Given the description of an element on the screen output the (x, y) to click on. 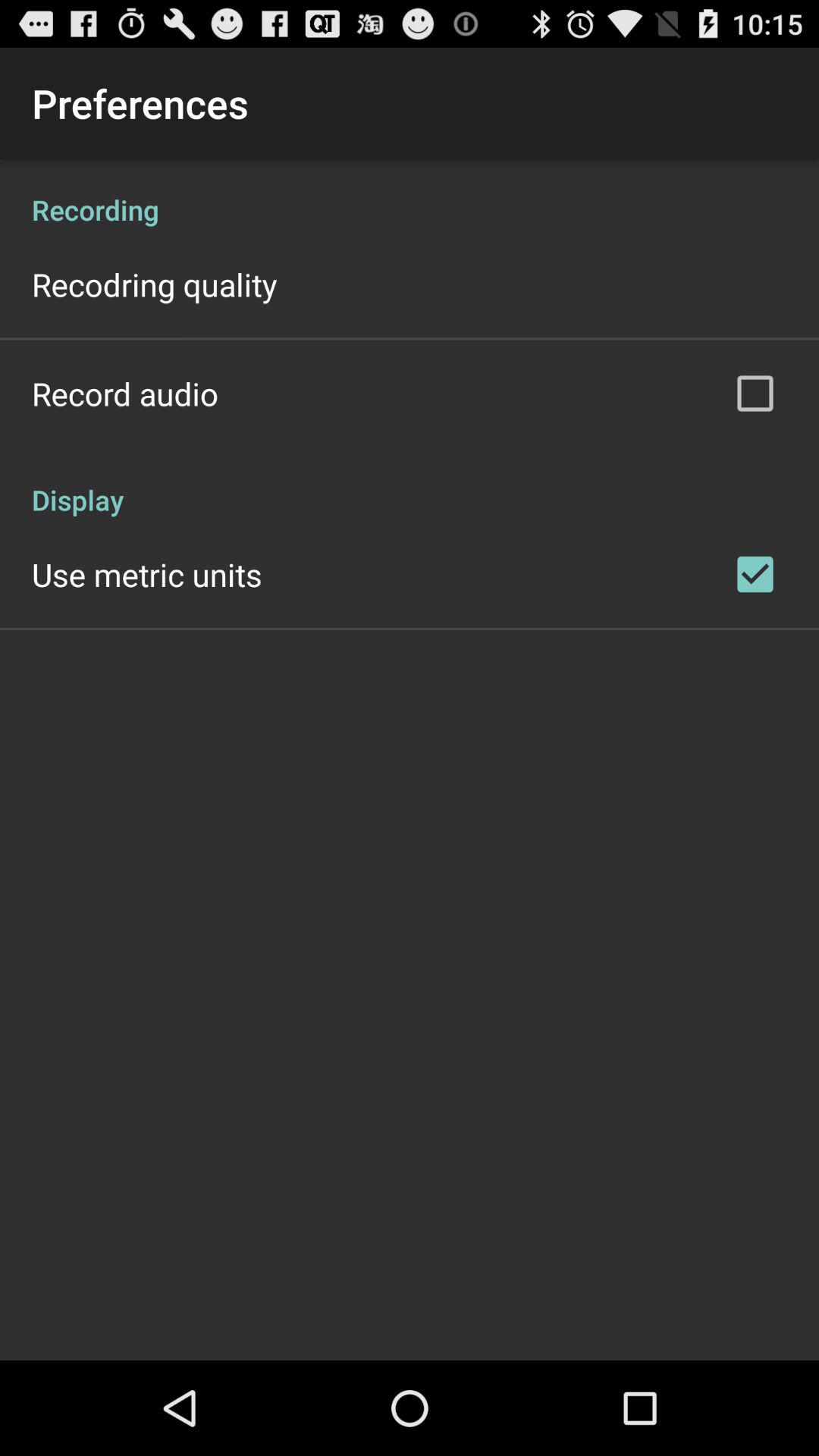
jump until the recording icon (409, 193)
